Given the description of an element on the screen output the (x, y) to click on. 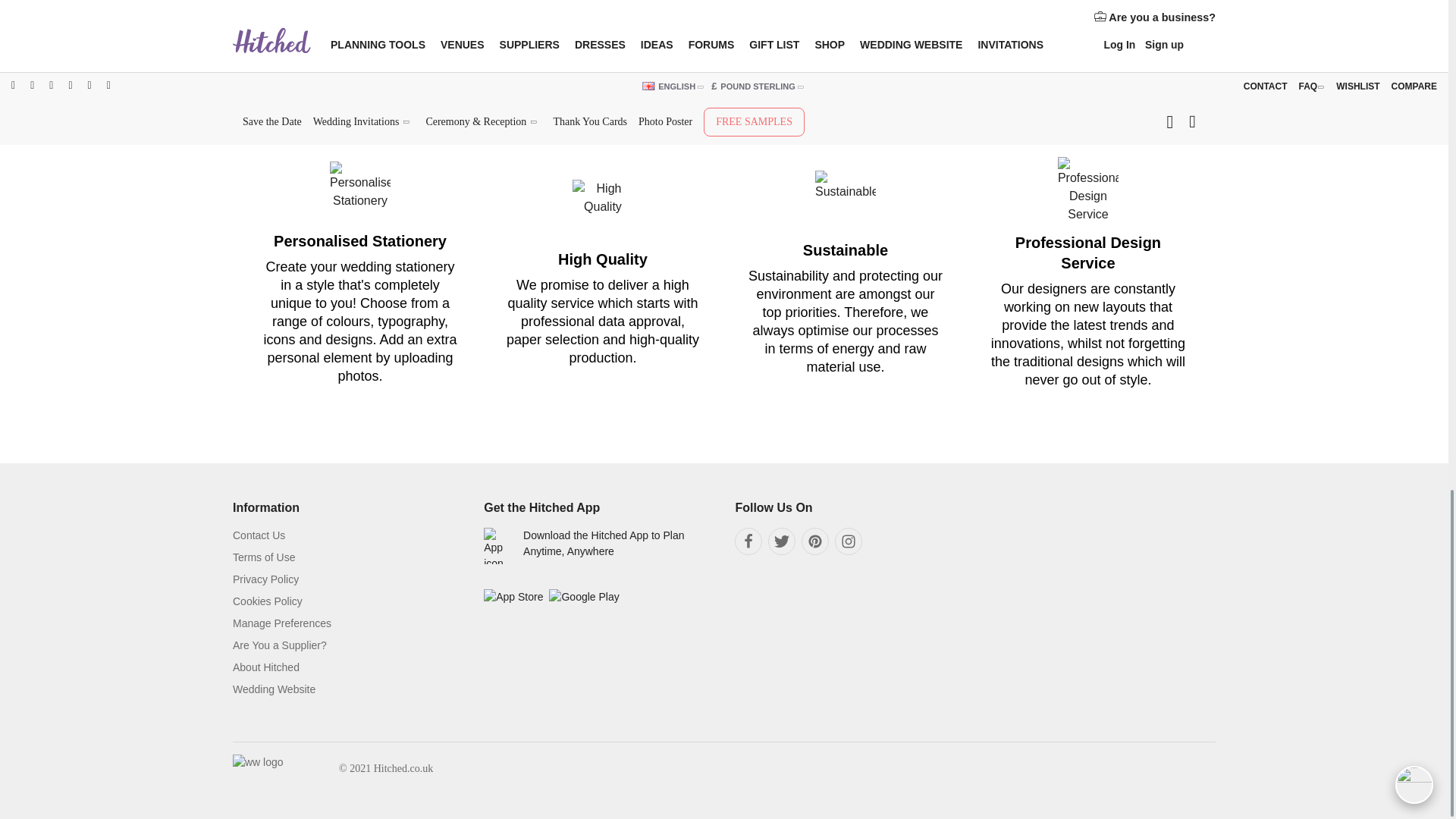
Hearts - Wedding Invitation with Insert (353, 11)
